Given the description of an element on the screen output the (x, y) to click on. 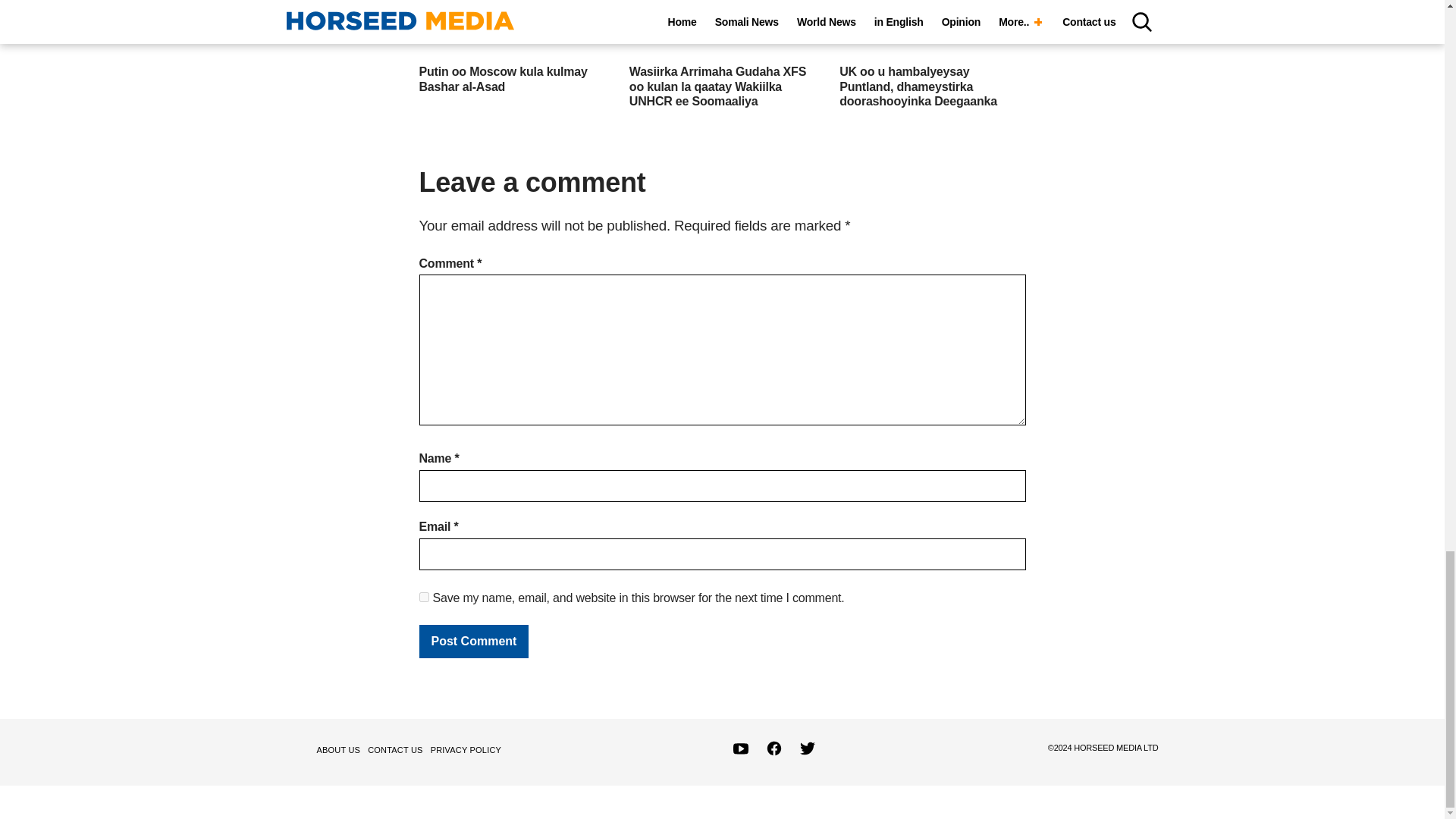
Putin oo Moscow kula kulmay Bashar al-Asad (502, 78)
Post Comment (473, 641)
yes (423, 596)
